Given the description of an element on the screen output the (x, y) to click on. 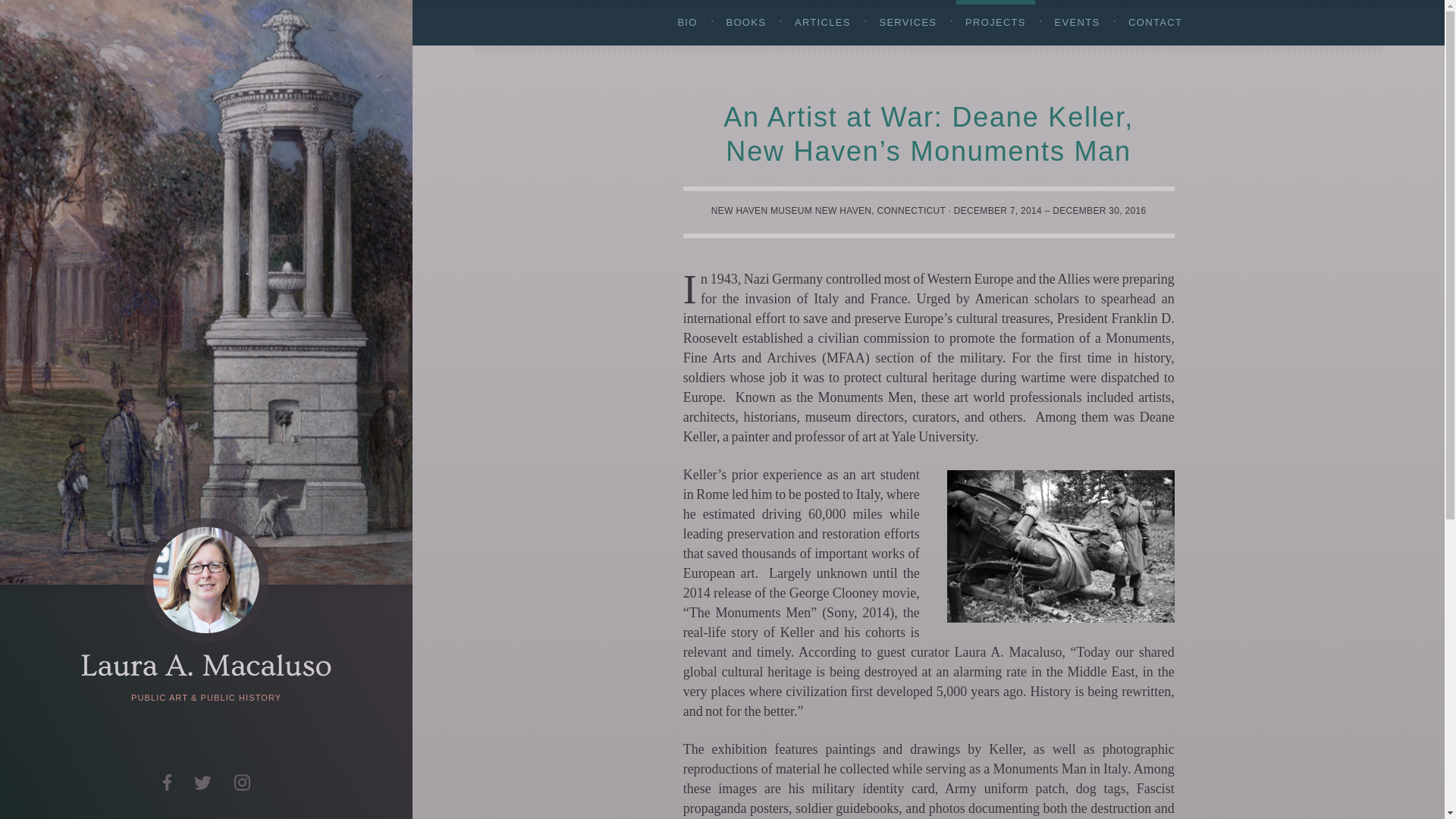
EVENTS (1077, 22)
CONTACT (1155, 22)
ARTICLES (823, 22)
Follow me on Twitter (202, 782)
SERVICES (906, 22)
PROJECTS (995, 22)
BOOKS (745, 22)
Skip to content (41, 8)
Skip to content (41, 8)
Follow me on Instagram (242, 782)
